Given the description of an element on the screen output the (x, y) to click on. 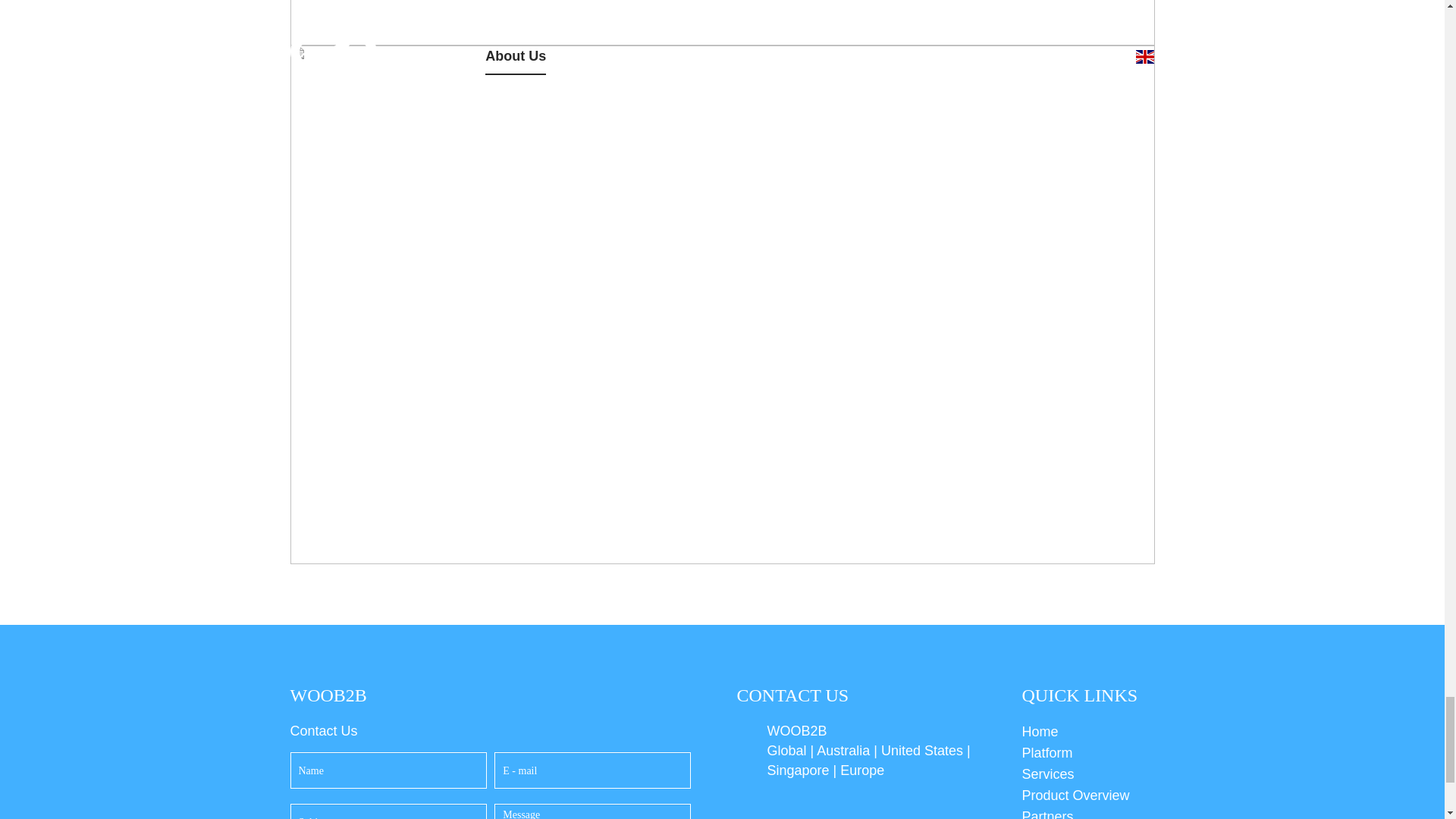
Partners (1088, 812)
Product Overview (1088, 794)
Home (1088, 731)
Platform (1088, 752)
Services (1088, 773)
